Given the description of an element on the screen output the (x, y) to click on. 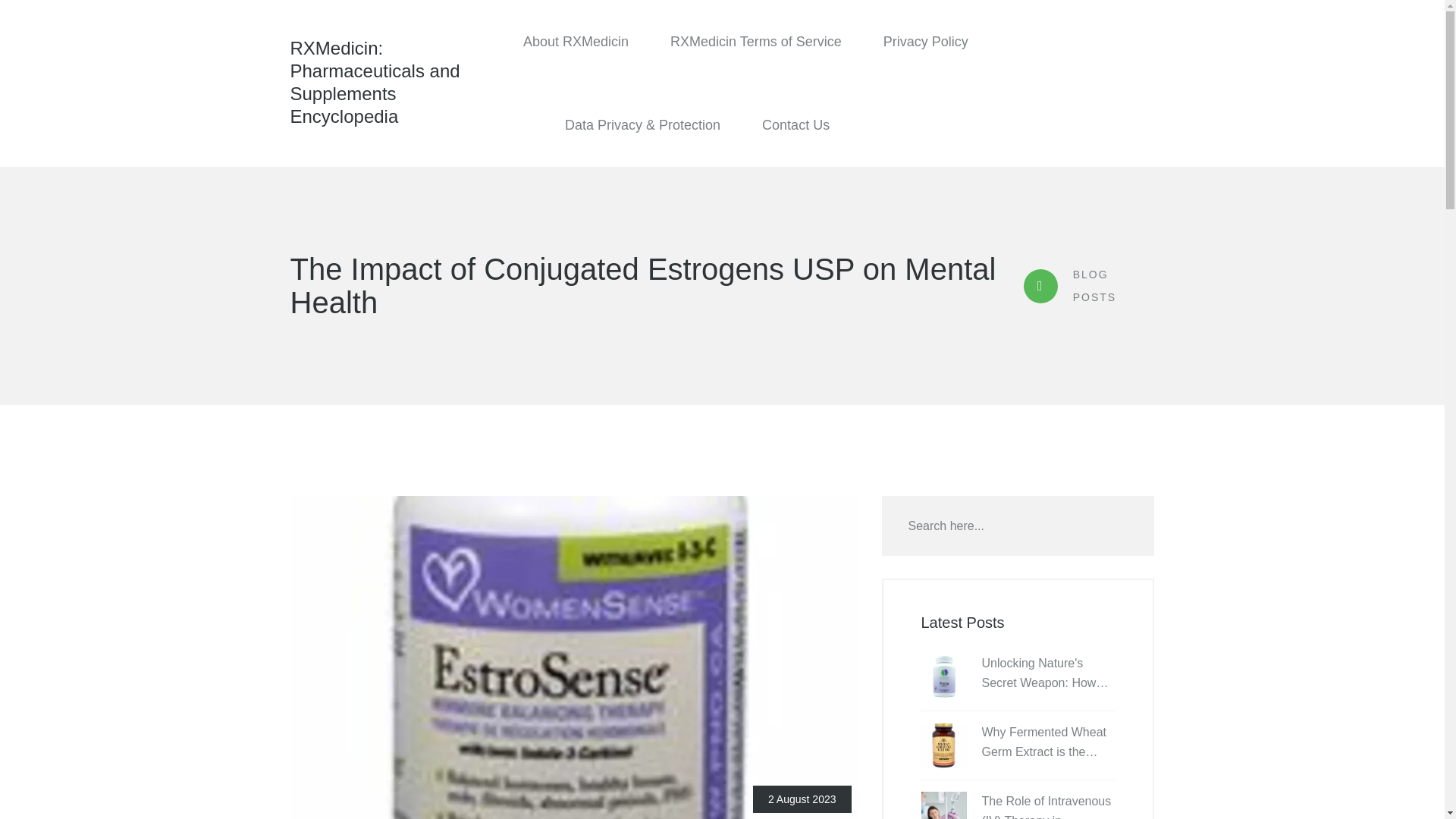
Privacy Policy (925, 41)
RXMedicin Terms of Service (755, 41)
RXMedicin: Pharmaceuticals and Supplements Encyclopedia (389, 81)
About RXMedicin (575, 41)
